Given the description of an element on the screen output the (x, y) to click on. 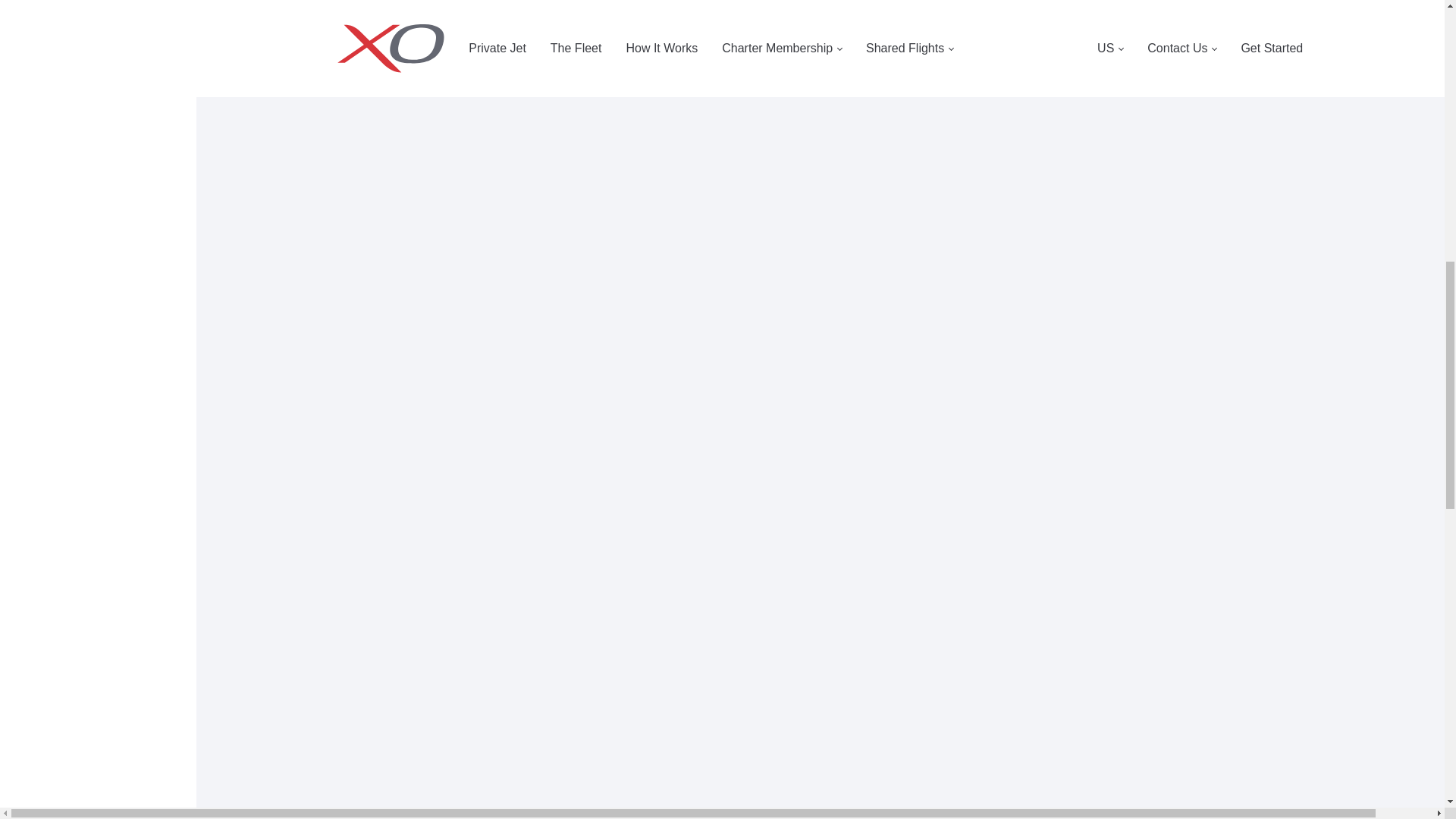
Fujiya 1935 (979, 658)
Conrad Osaka (662, 794)
The Ritz-Carlton, Osaka (979, 749)
The Cosmopolitan (662, 749)
The St. Regis Osaka (979, 794)
La Baie (662, 658)
Pierre (662, 703)
La Veduta (979, 703)
